Given the description of an element on the screen output the (x, y) to click on. 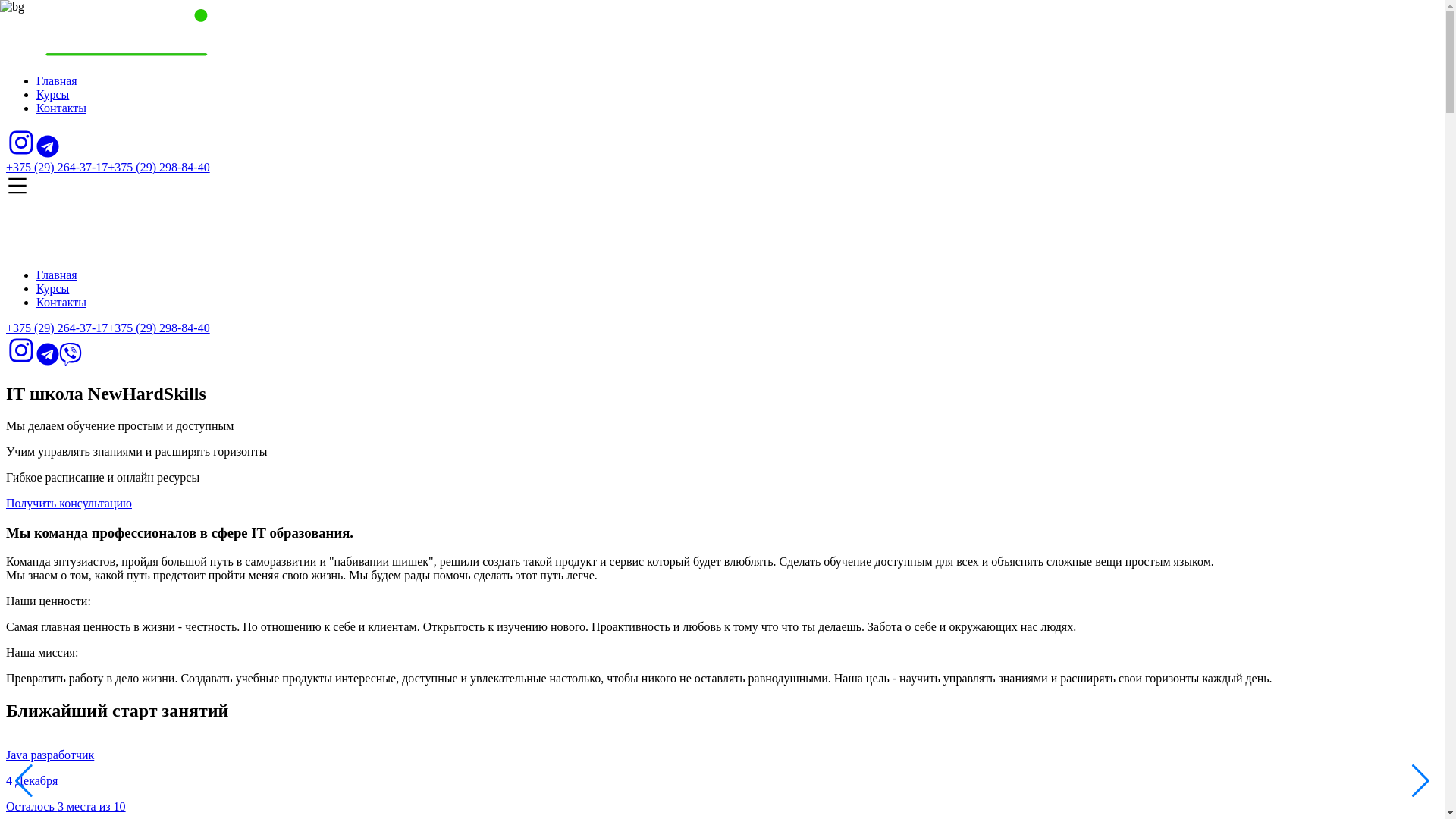
+375 (29) 298-84-40 Element type: text (158, 166)
+375 (29) 264-37-17 Element type: text (56, 166)
+375 (29) 298-84-40 Element type: text (158, 327)
+375 (29) 264-37-17 Element type: text (56, 327)
